Given the description of an element on the screen output the (x, y) to click on. 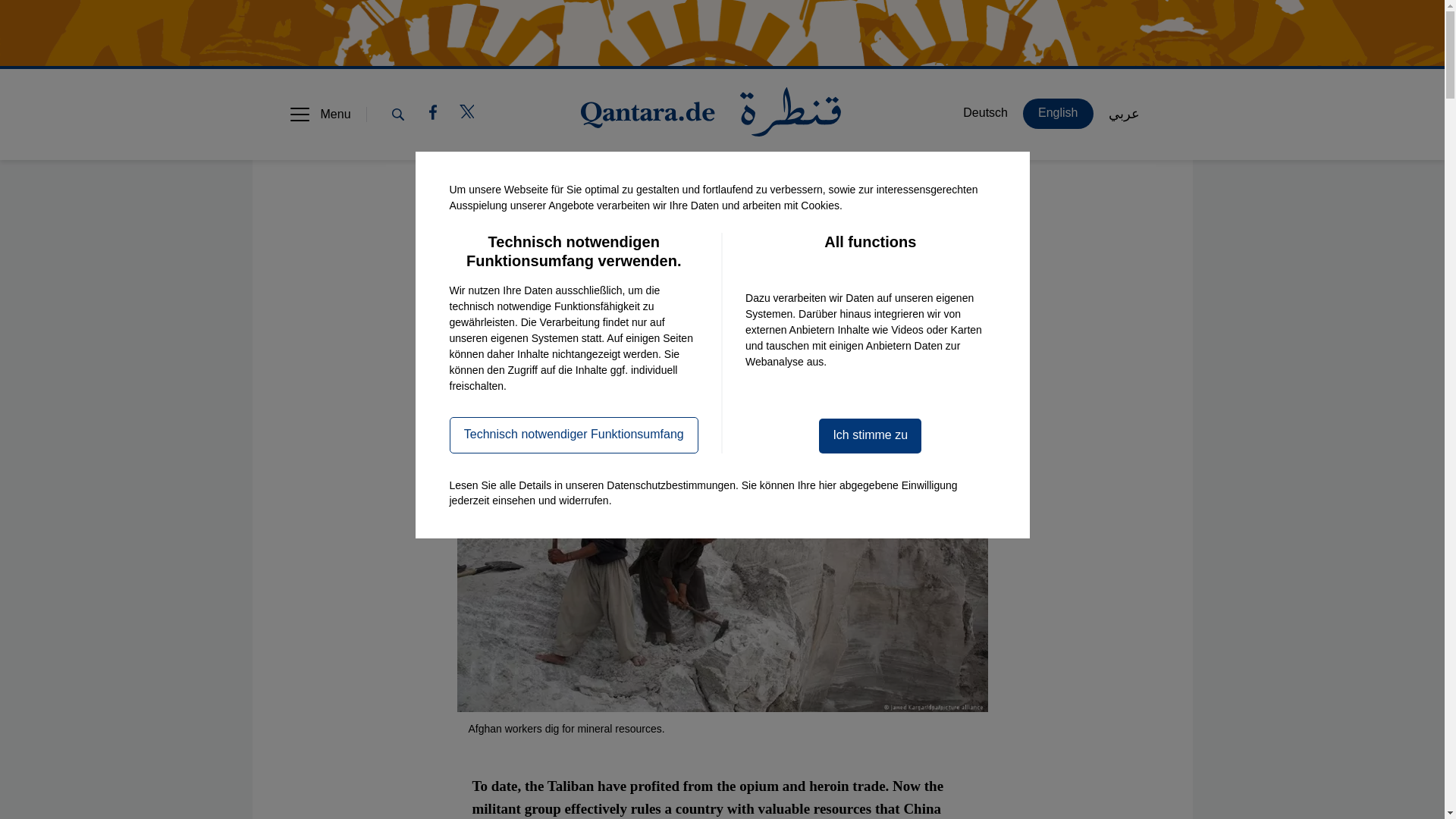
English (1058, 113)
Deutsch (509, 358)
English (581, 358)
Home (710, 113)
Deutsch (985, 113)
